Given the description of an element on the screen output the (x, y) to click on. 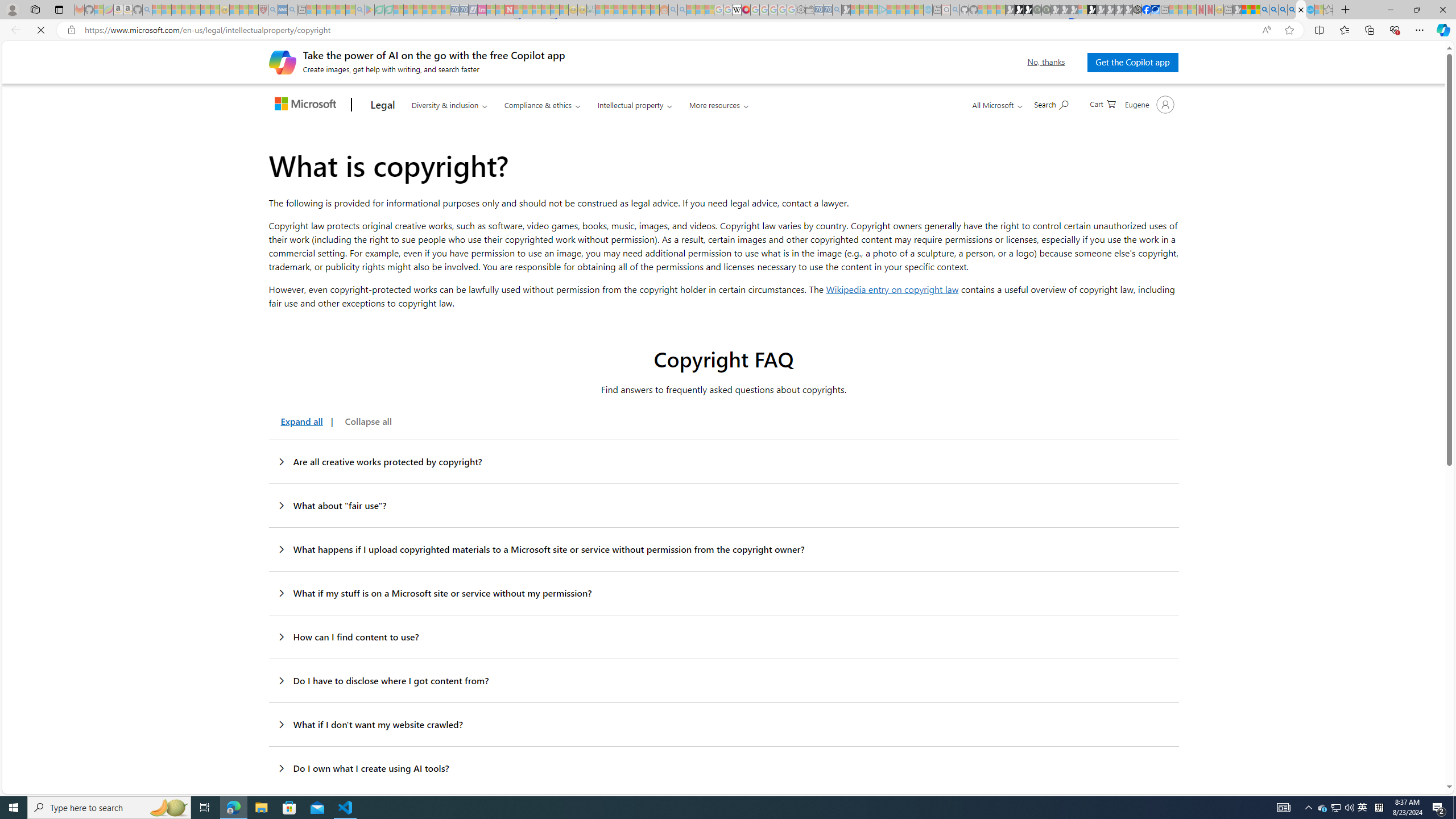
 Collapse all (366, 421)
Get the Copilot app  (1131, 62)
Visit Wikipedia for an overview of copyright law (892, 288)
AirNow.gov (1154, 9)
MSN - Sleeping (1236, 9)
Create images, get help with writing, and search faster (282, 62)
utah sues federal government - Search - Sleeping (291, 9)
